Given the description of an element on the screen output the (x, y) to click on. 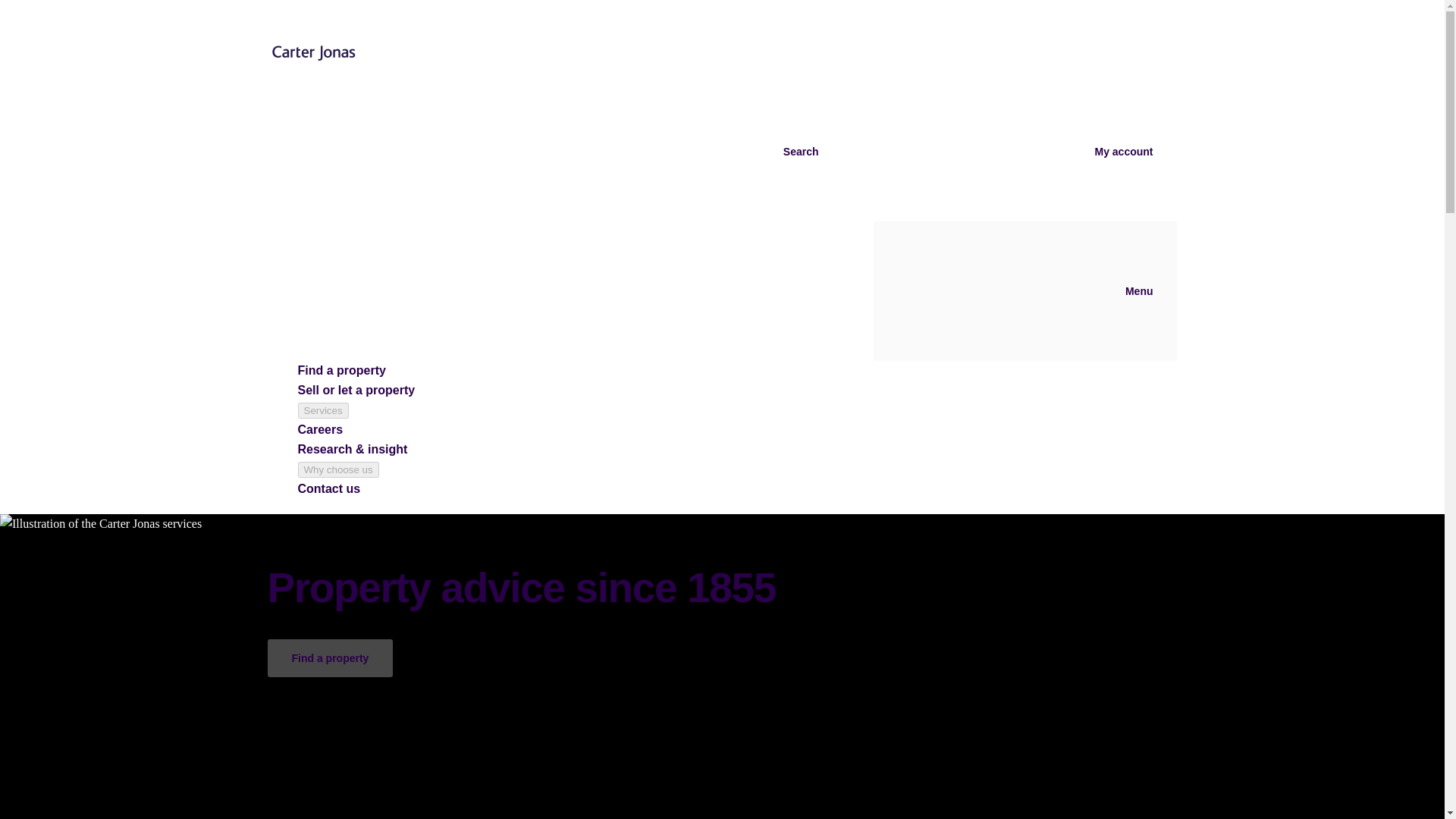
Sell or let a property (355, 390)
Services (322, 410)
Find a property (341, 369)
Search (687, 151)
Homepage (389, 40)
My account (1010, 151)
Menu (1025, 291)
